Given the description of an element on the screen output the (x, y) to click on. 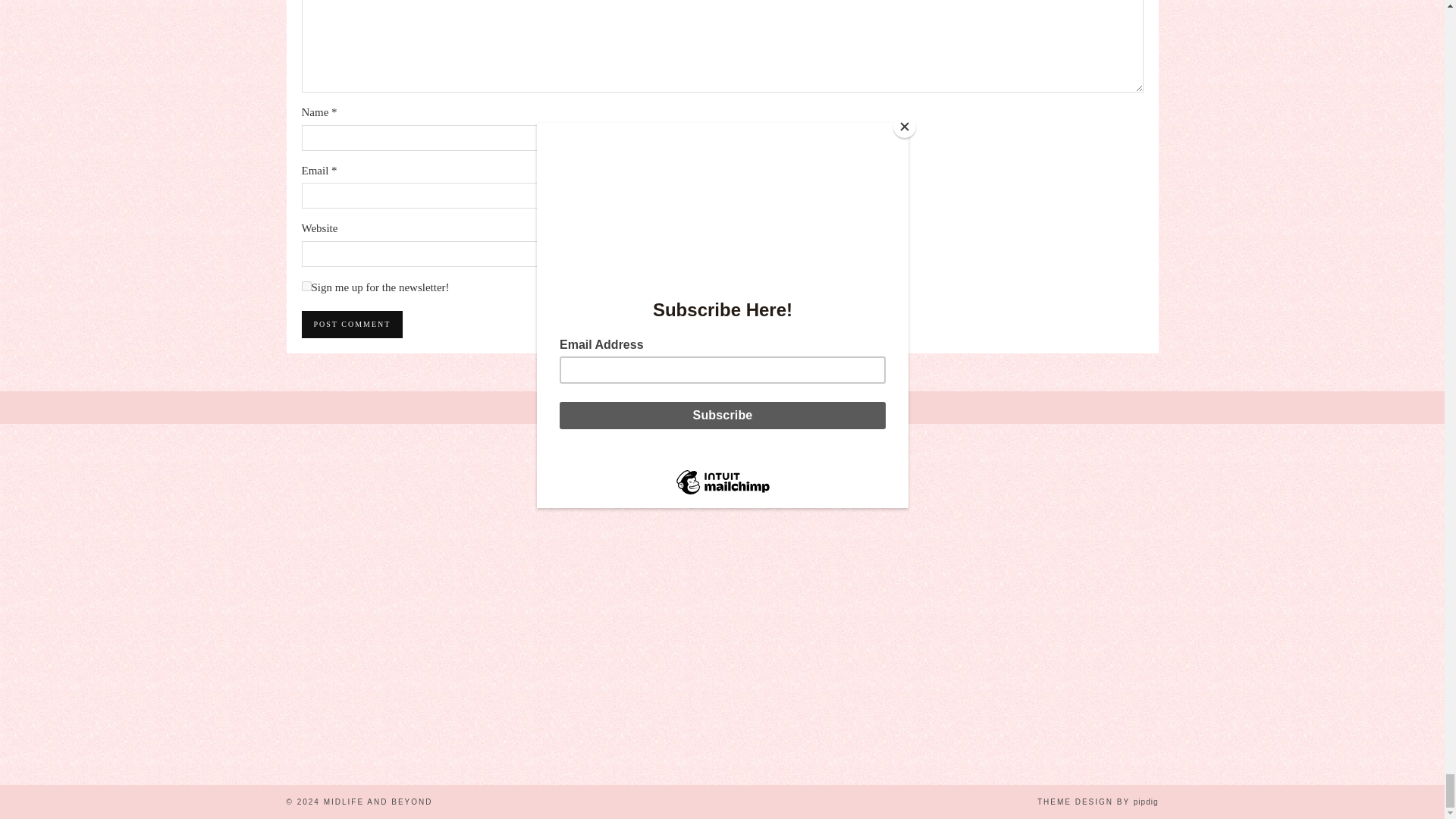
1 (306, 286)
Post Comment (352, 324)
